Given the description of an element on the screen output the (x, y) to click on. 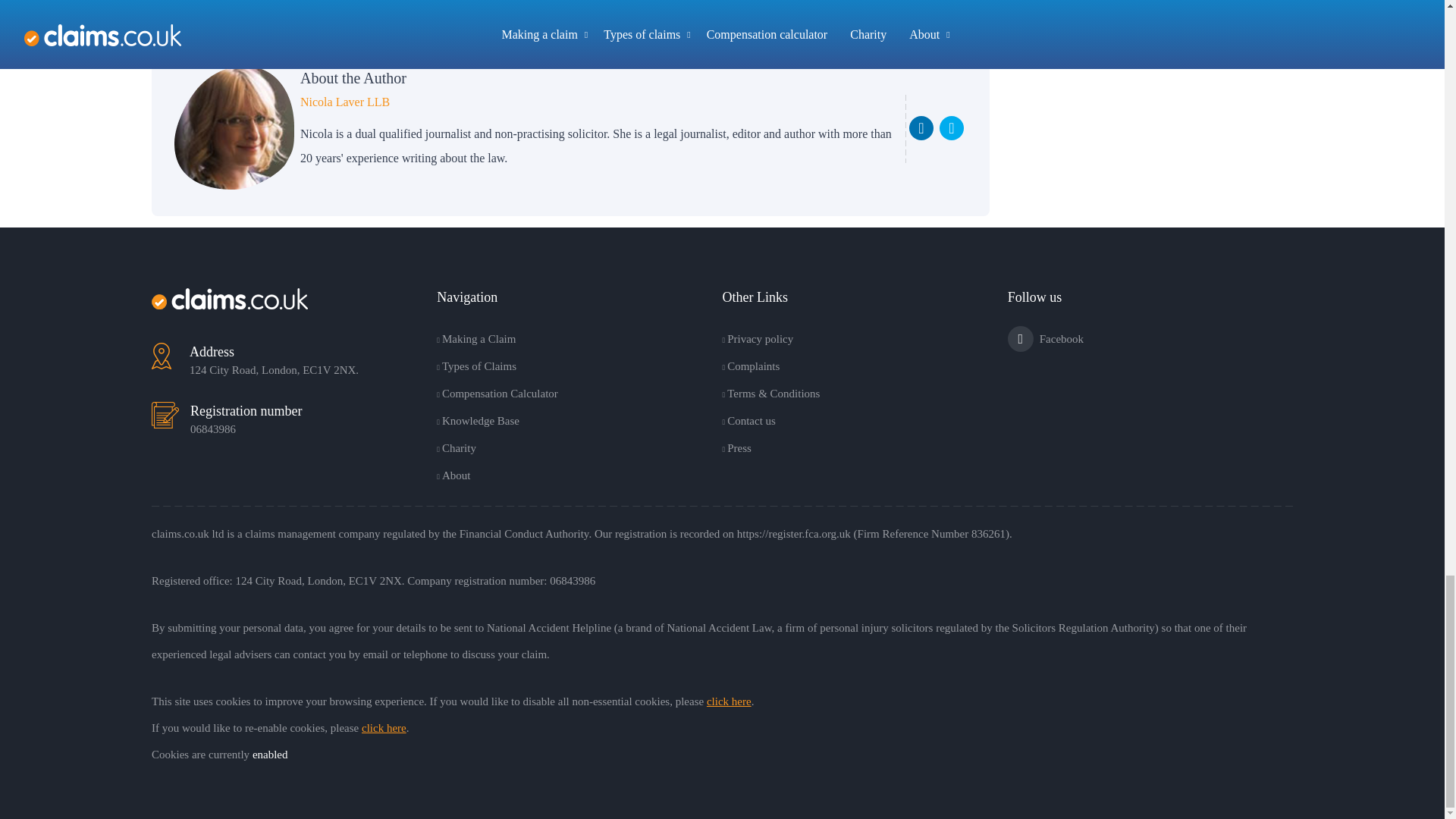
Find Nicola on LinkedIn (920, 128)
Nicola Laver LLB (234, 127)
Find Nicola on Twitter (951, 128)
